Given the description of an element on the screen output the (x, y) to click on. 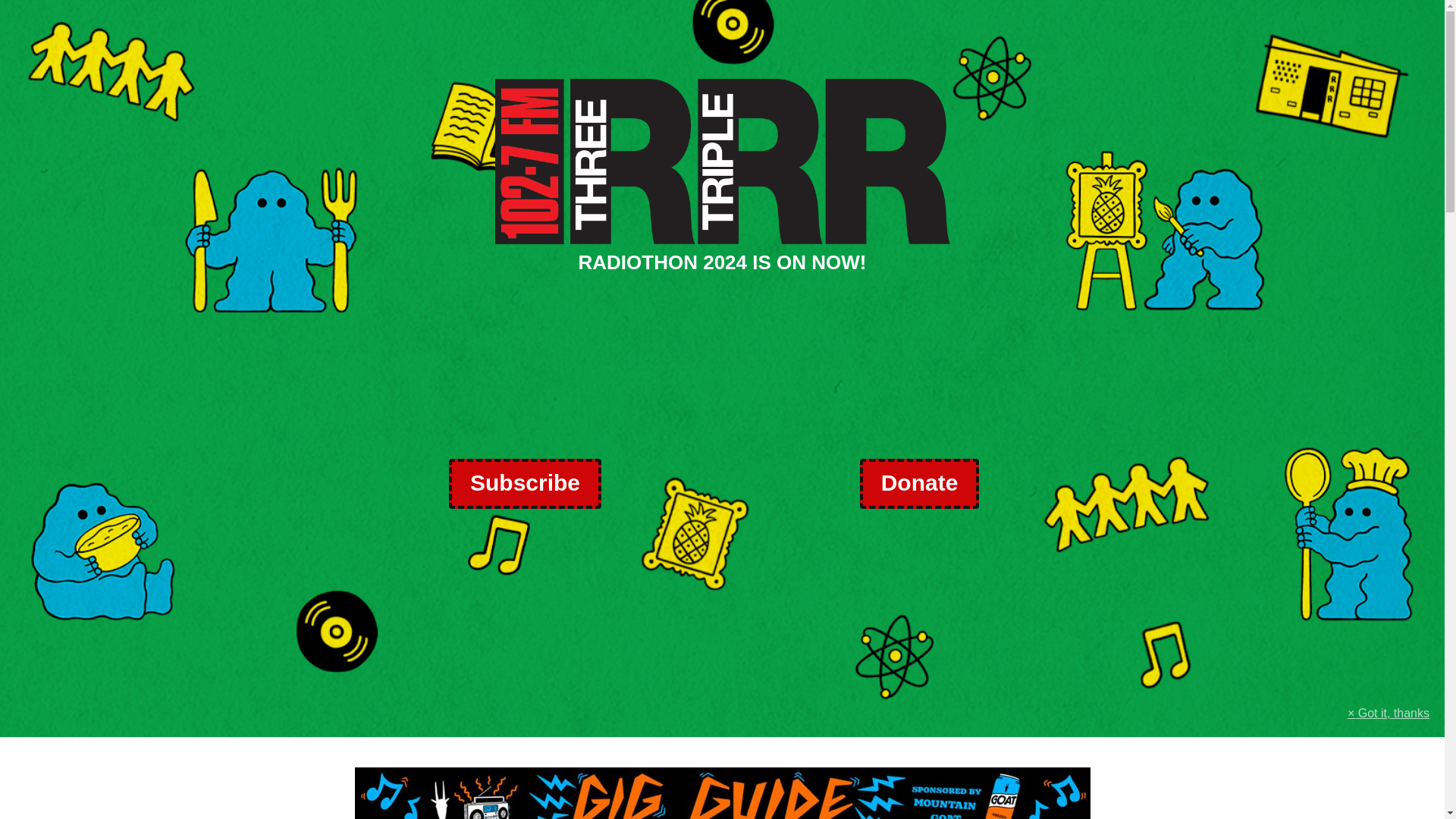
Subscribe (524, 483)
Donate (919, 483)
